Given the description of an element on the screen output the (x, y) to click on. 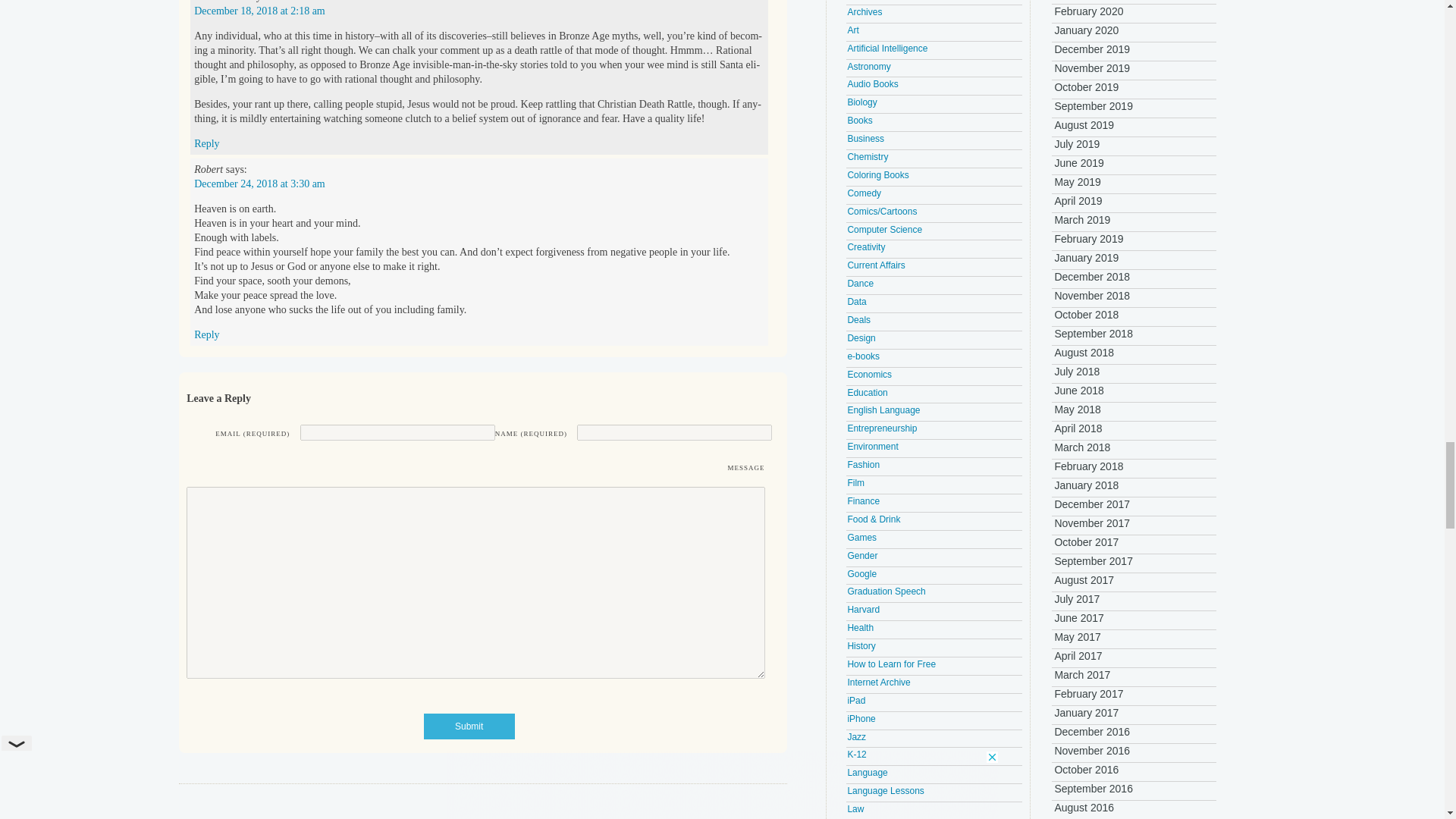
Submit (469, 726)
